Given the description of an element on the screen output the (x, y) to click on. 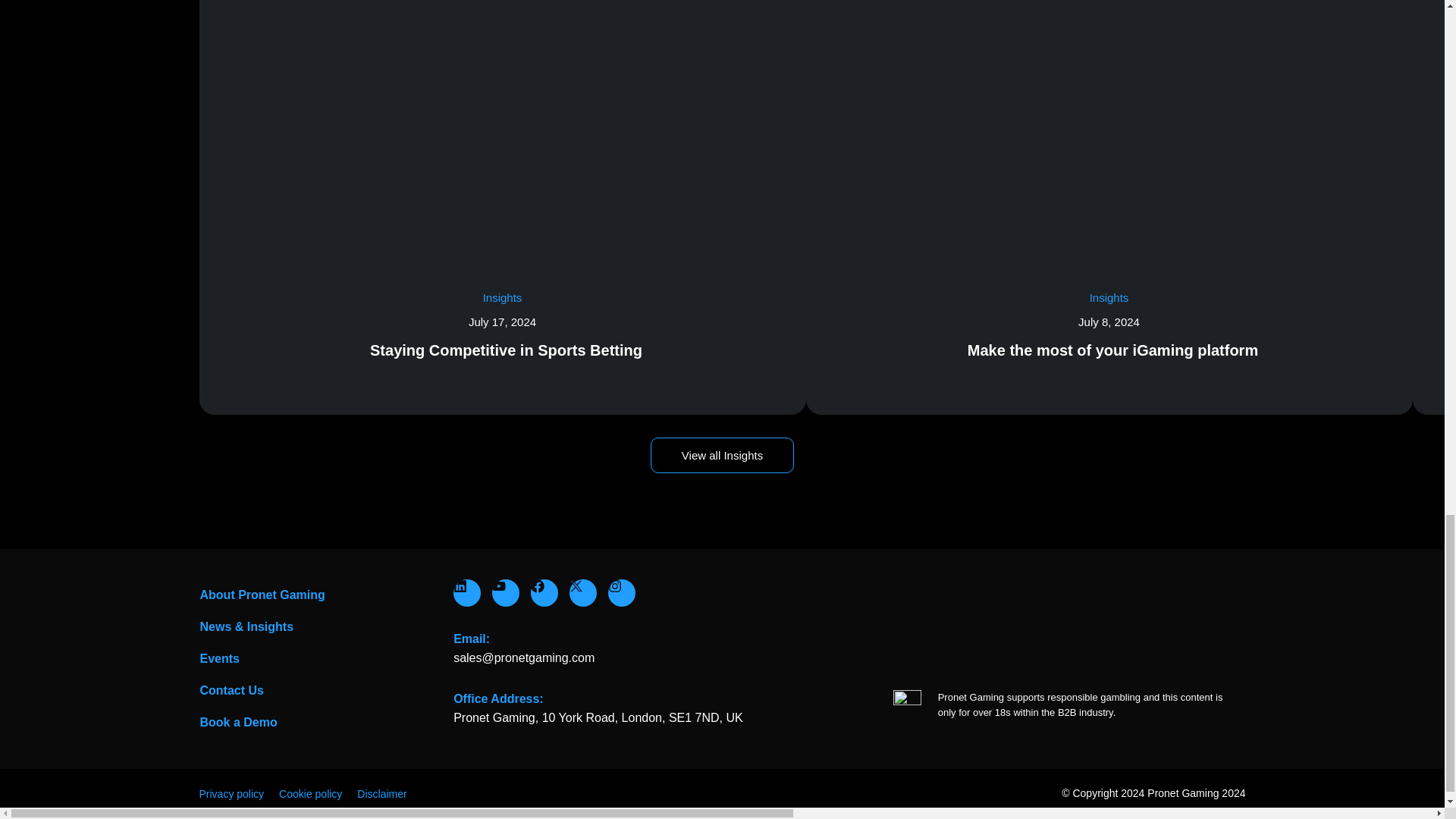
Contact Us (318, 690)
Book a Demo (318, 722)
View all Insights (721, 455)
Events (318, 658)
About Pronet Gaming (318, 594)
